Given the description of an element on the screen output the (x, y) to click on. 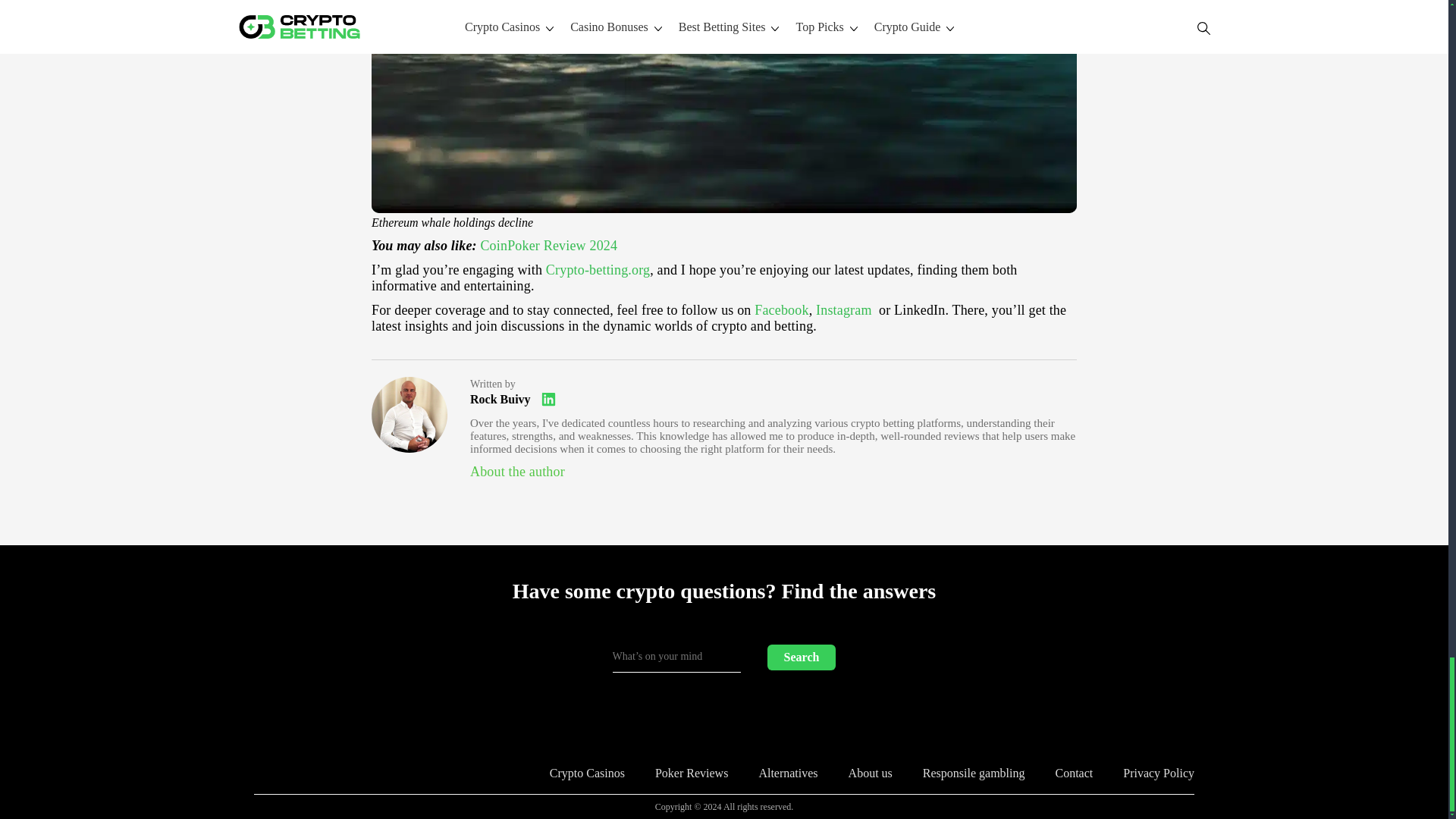
Search (801, 657)
Search (801, 657)
